Given the description of an element on the screen output the (x, y) to click on. 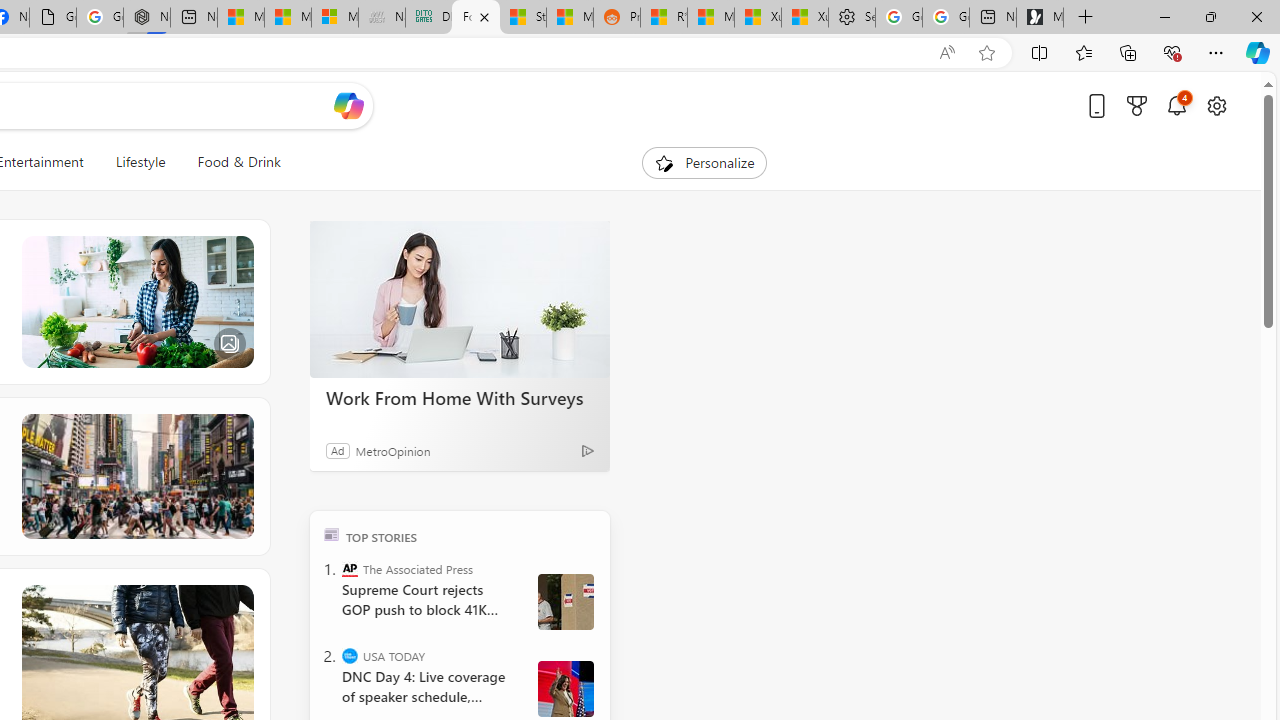
Ad Choice (587, 449)
Open settings (1216, 105)
